Given the description of an element on the screen output the (x, y) to click on. 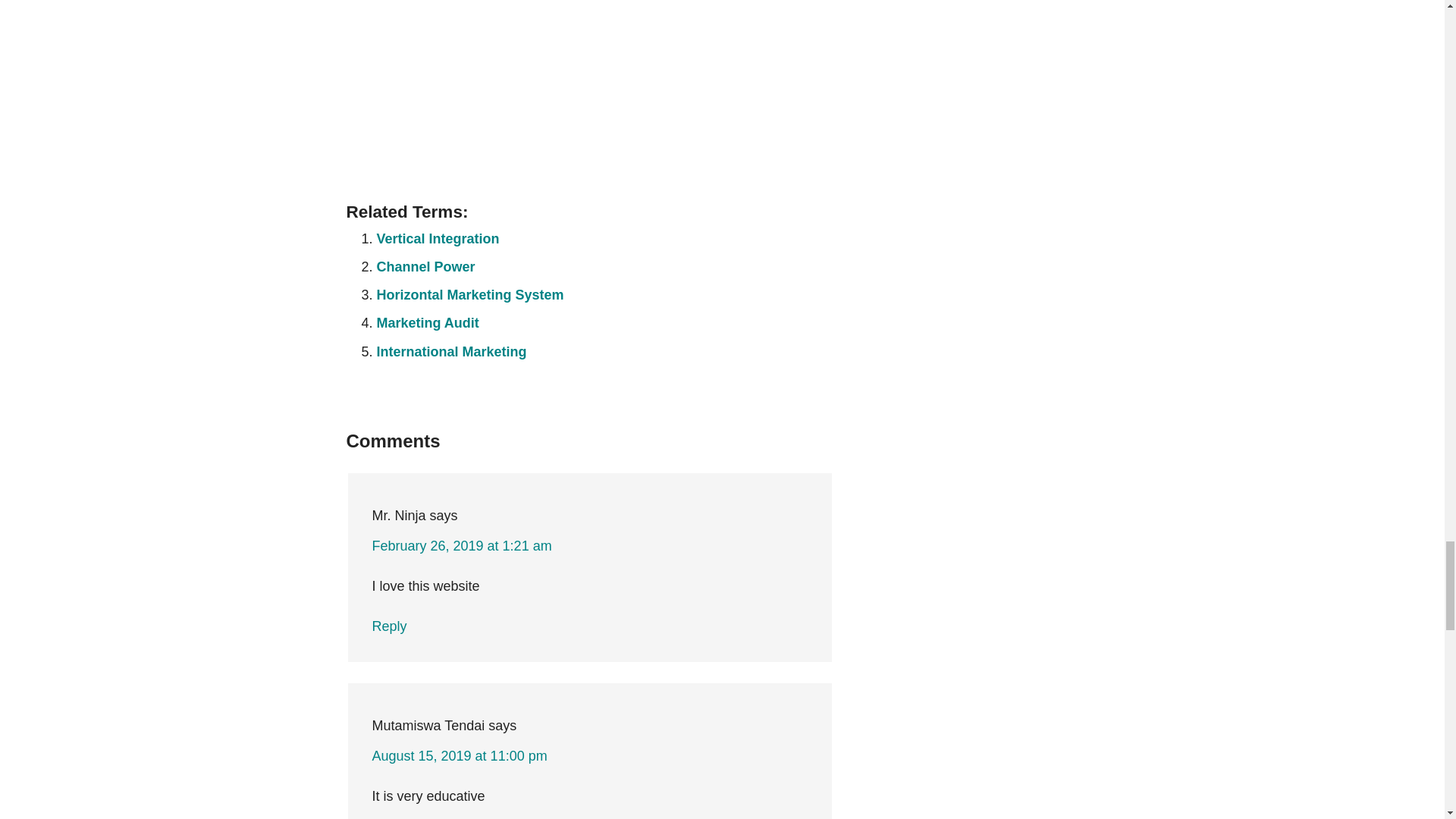
Marketing Audit (427, 322)
Reply (388, 626)
February 26, 2019 at 1:21 am (461, 545)
Channel Power (424, 266)
Vertical Integration (437, 238)
Horizontal Marketing System (469, 294)
August 15, 2019 at 11:00 pm (459, 755)
Vertical Integration (437, 238)
International Marketing (450, 351)
Horizontal Marketing System (469, 294)
Channel Power (424, 266)
Marketing Audit (427, 322)
International Marketing (450, 351)
